Given the description of an element on the screen output the (x, y) to click on. 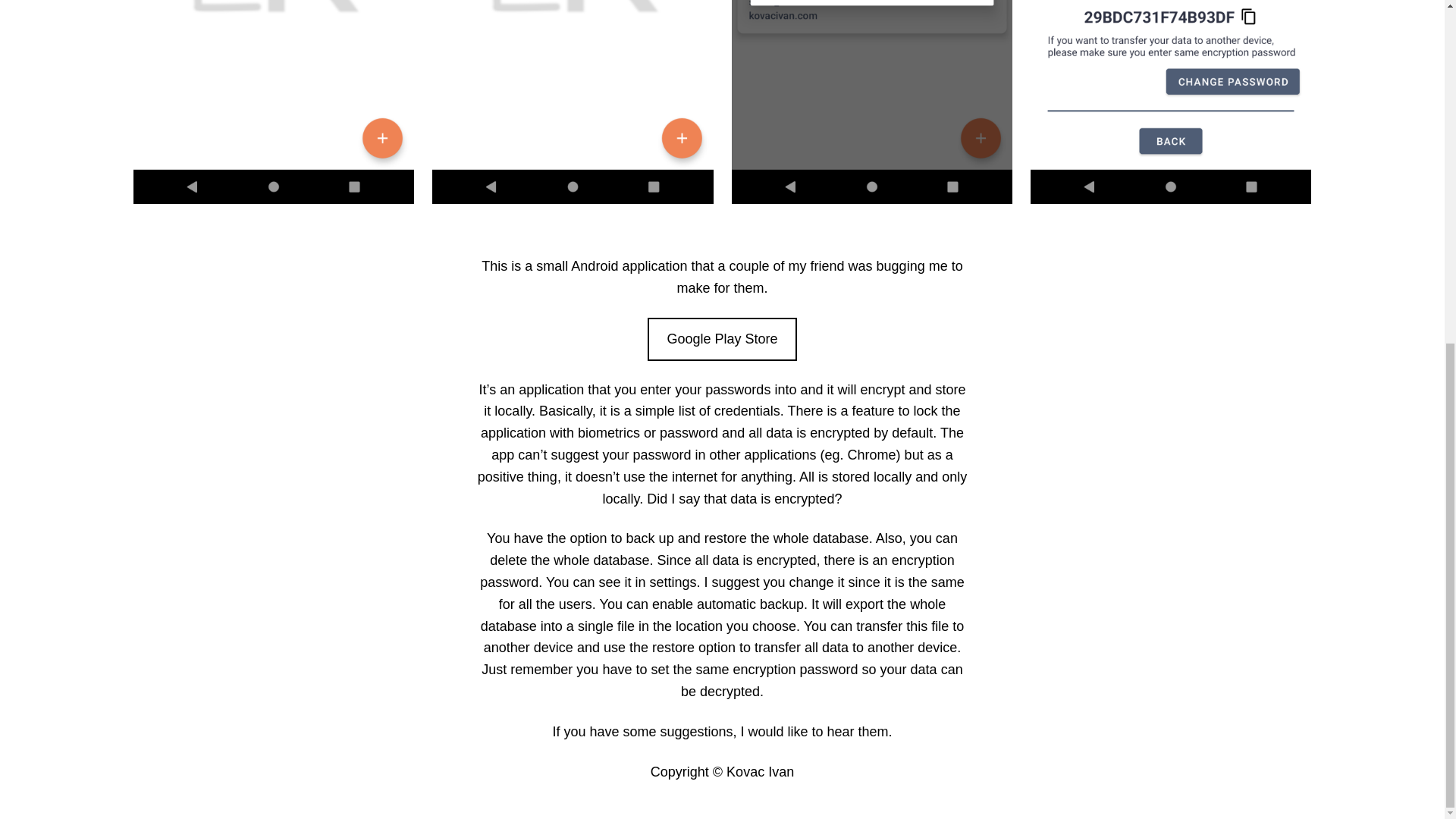
Google Play Store (722, 339)
